Given the description of an element on the screen output the (x, y) to click on. 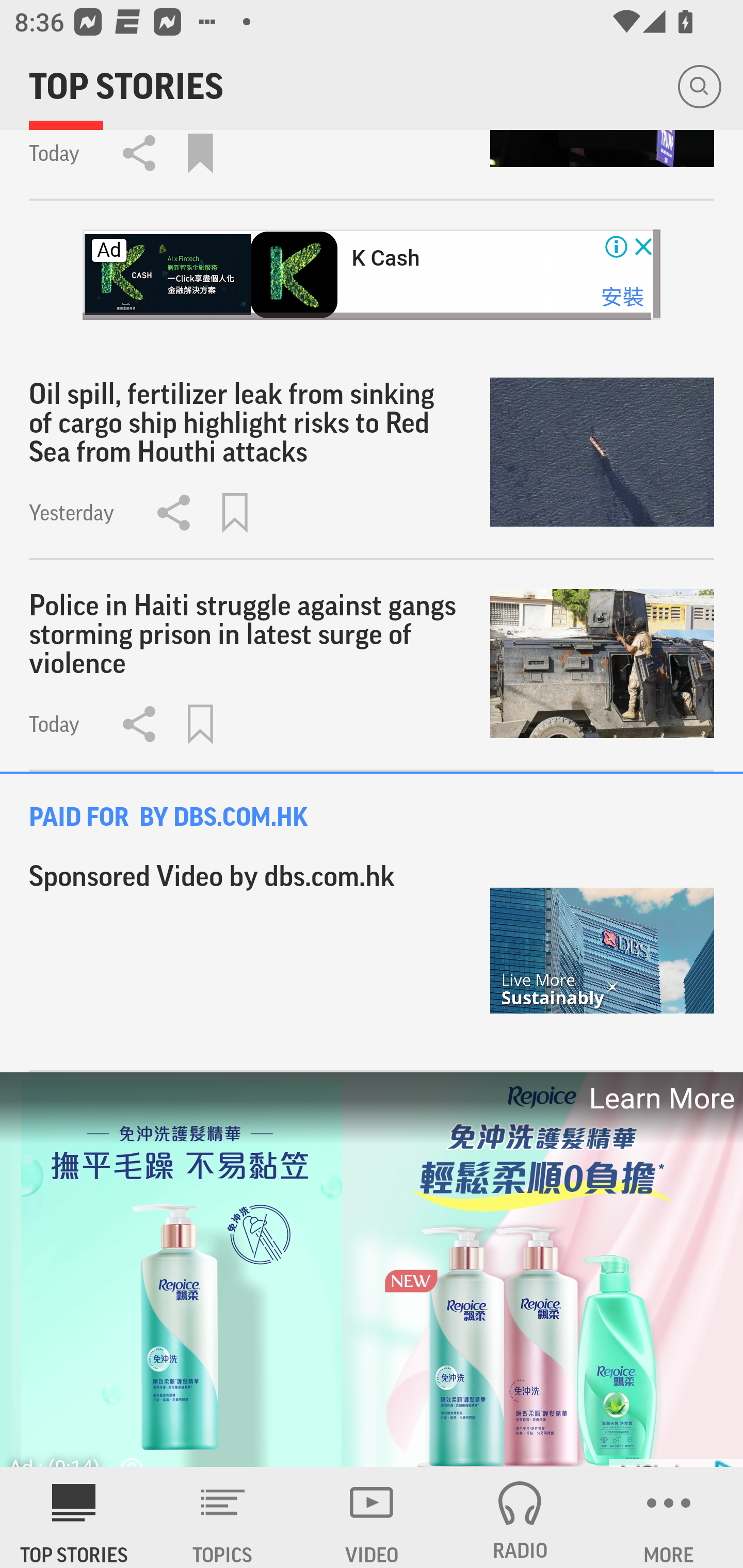
K Cash (384, 258)
安裝 (621, 296)
Learn More (660, 1098)
AP News TOP STORIES (74, 1517)
TOPICS (222, 1517)
VIDEO (371, 1517)
RADIO (519, 1517)
MORE (668, 1517)
